Given the description of an element on the screen output the (x, y) to click on. 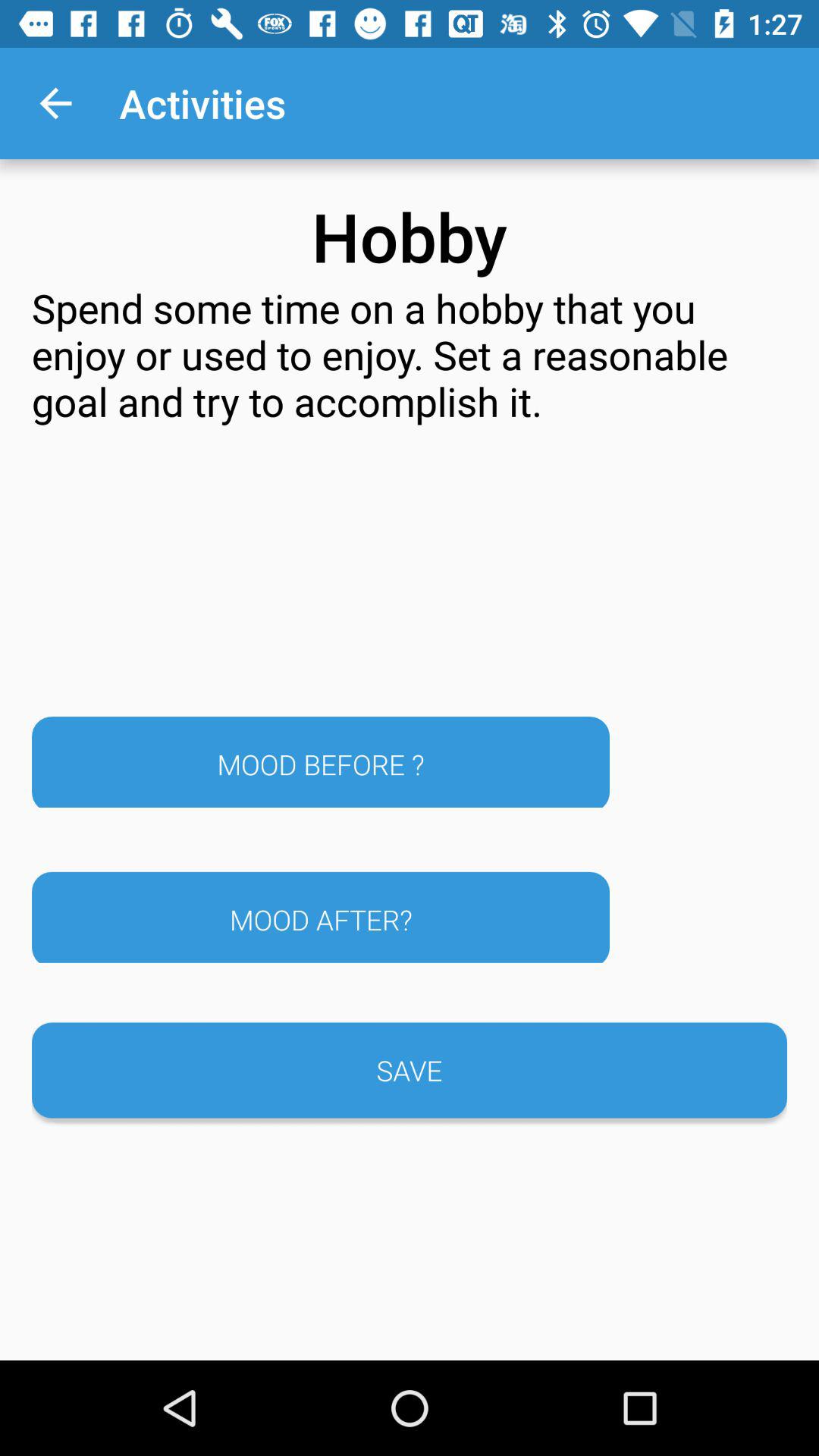
scroll to save (409, 1070)
